Given the description of an element on the screen output the (x, y) to click on. 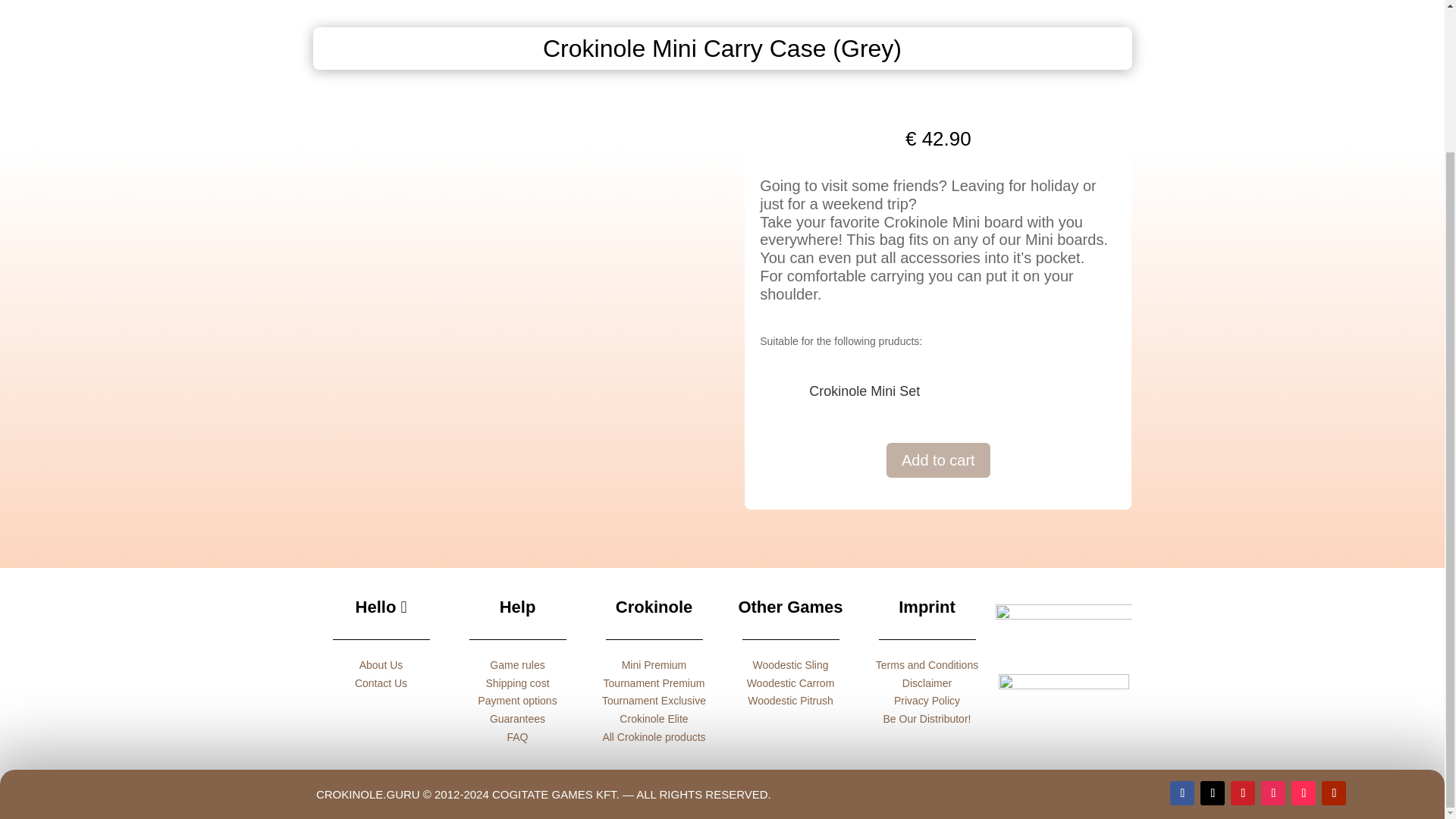
Follow on Youtube (1333, 793)
Crokinole Mini Set (864, 391)
Guarantees (516, 718)
Add to cart (938, 460)
Follow on X (1211, 793)
Payment options (516, 700)
Tournament Premium (654, 683)
Woodestic Sling (790, 664)
Follow on Instagram (1272, 793)
All Crokinole products (653, 736)
